Given the description of an element on the screen output the (x, y) to click on. 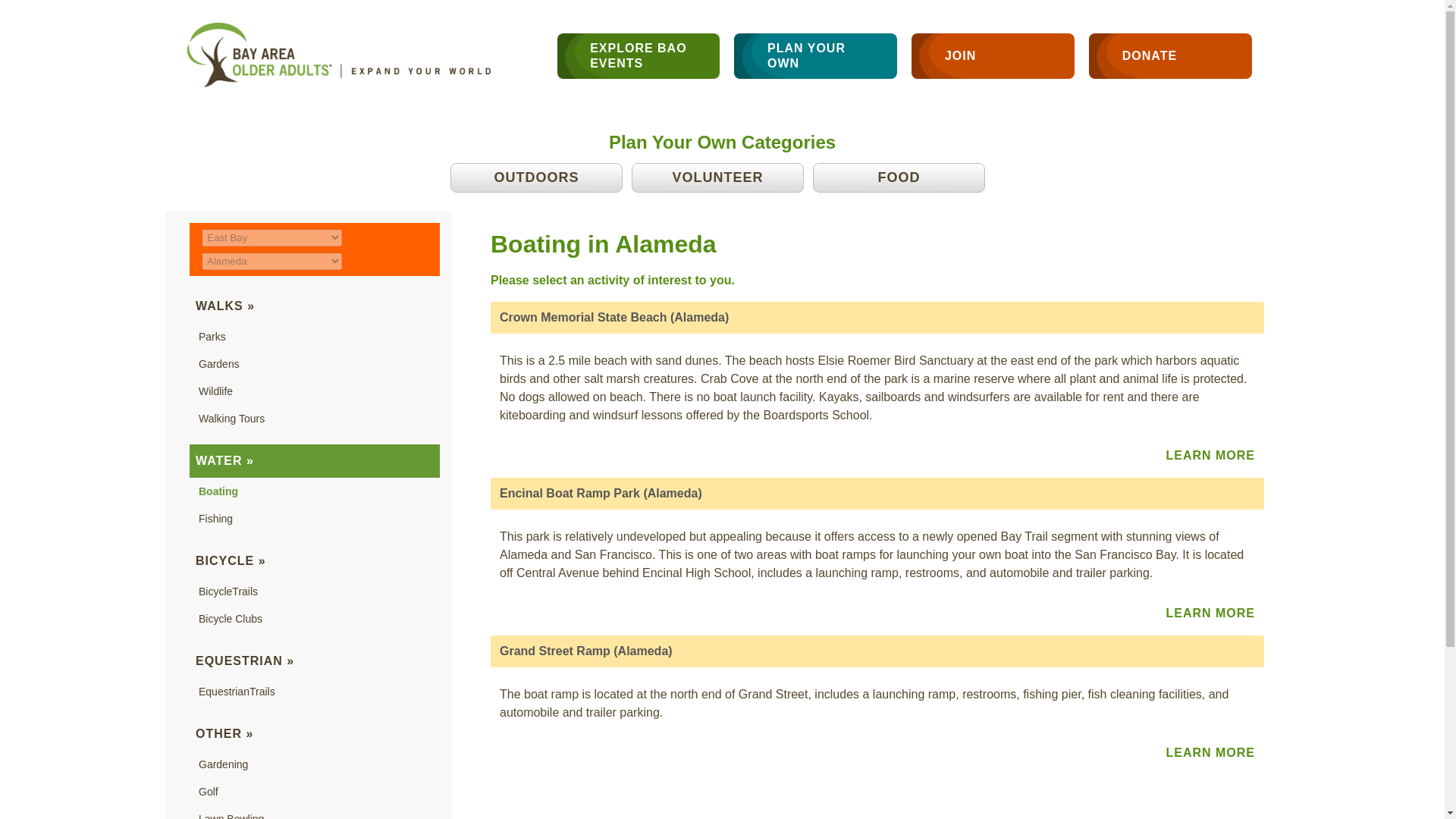
Fishing (215, 518)
FOOD (898, 177)
BicycleTrails (227, 591)
EXPLORE BAO EVENTS (638, 55)
Gardens (219, 363)
OUTDOORS (536, 177)
JOIN (992, 55)
Gardening (222, 764)
Golf (208, 791)
EquestrianTrails (236, 691)
